Given the description of an element on the screen output the (x, y) to click on. 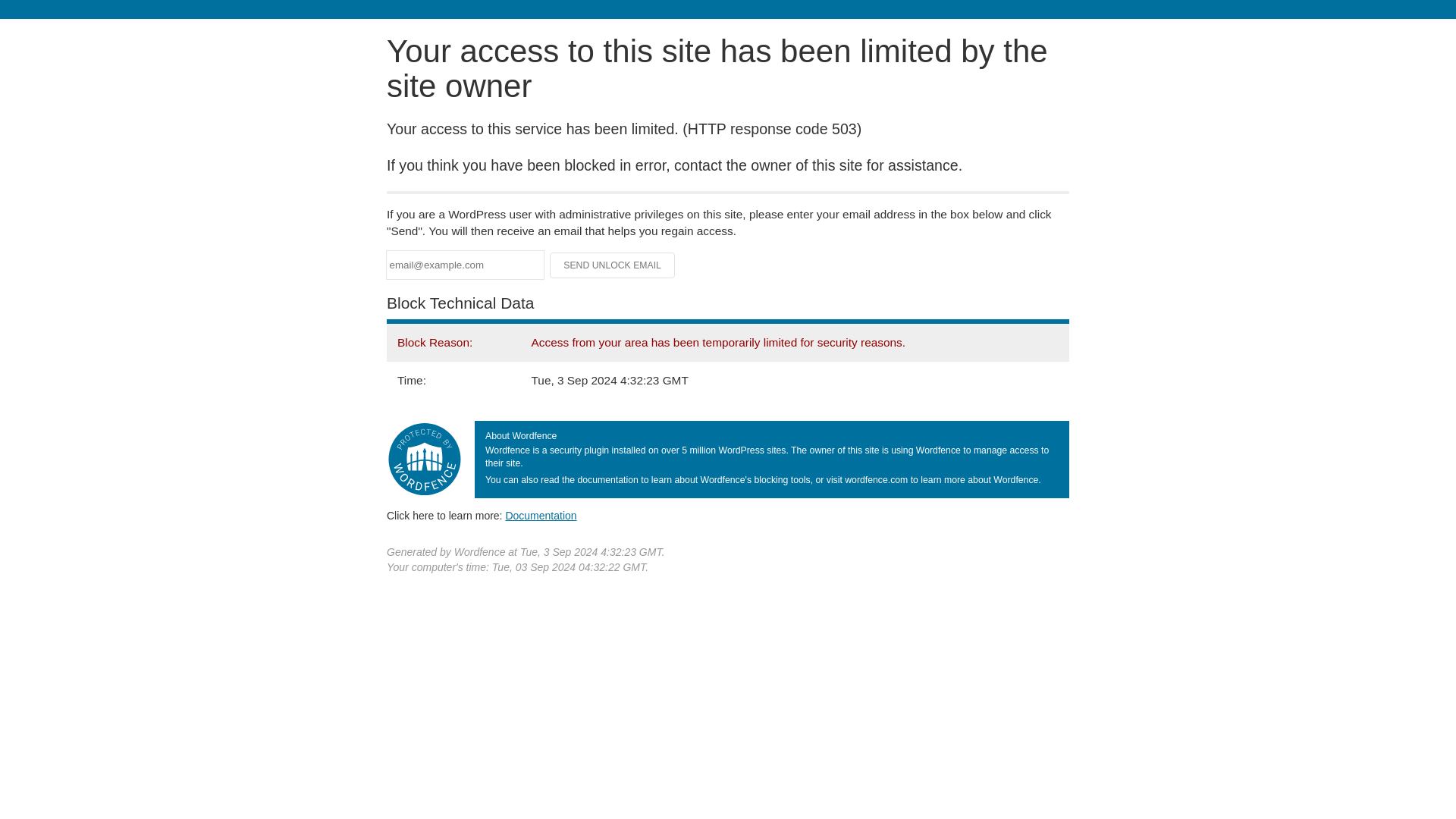
Send Unlock Email (612, 265)
Documentation (540, 515)
Send Unlock Email (612, 265)
